Given the description of an element on the screen output the (x, y) to click on. 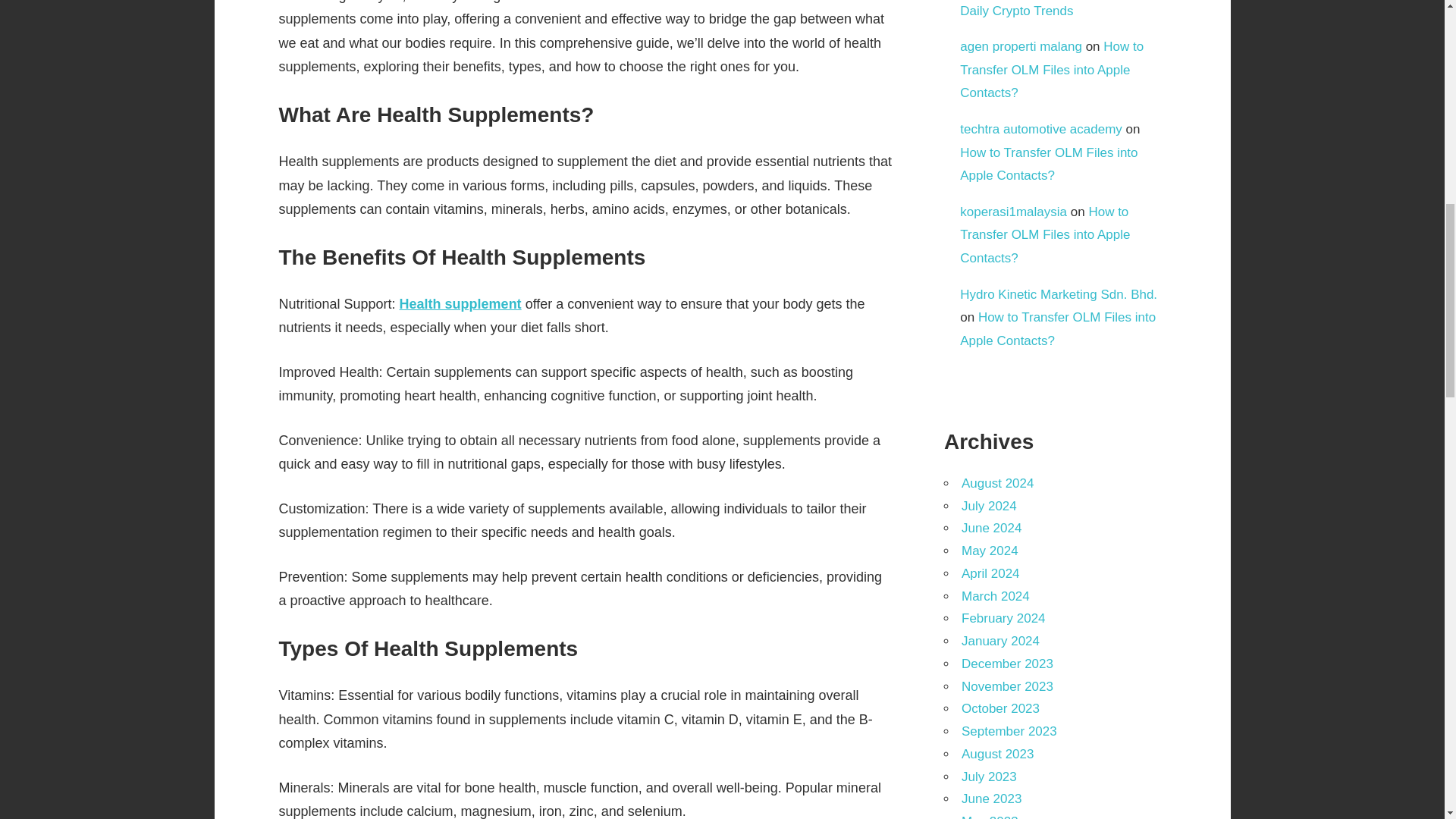
August 2024 (996, 482)
How to Transfer OLM Files into Apple Contacts? (1044, 234)
techtra automotive academy (1040, 129)
How to Transfer OLM Files into Apple Contacts? (1048, 164)
koperasi1malaysia (1013, 211)
How to Transfer OLM Files into Apple Contacts? (1057, 329)
agen properti malang (1020, 46)
Hydro Kinetic Marketing Sdn. Bhd. (1058, 293)
Health supplement (459, 304)
